Given the description of an element on the screen output the (x, y) to click on. 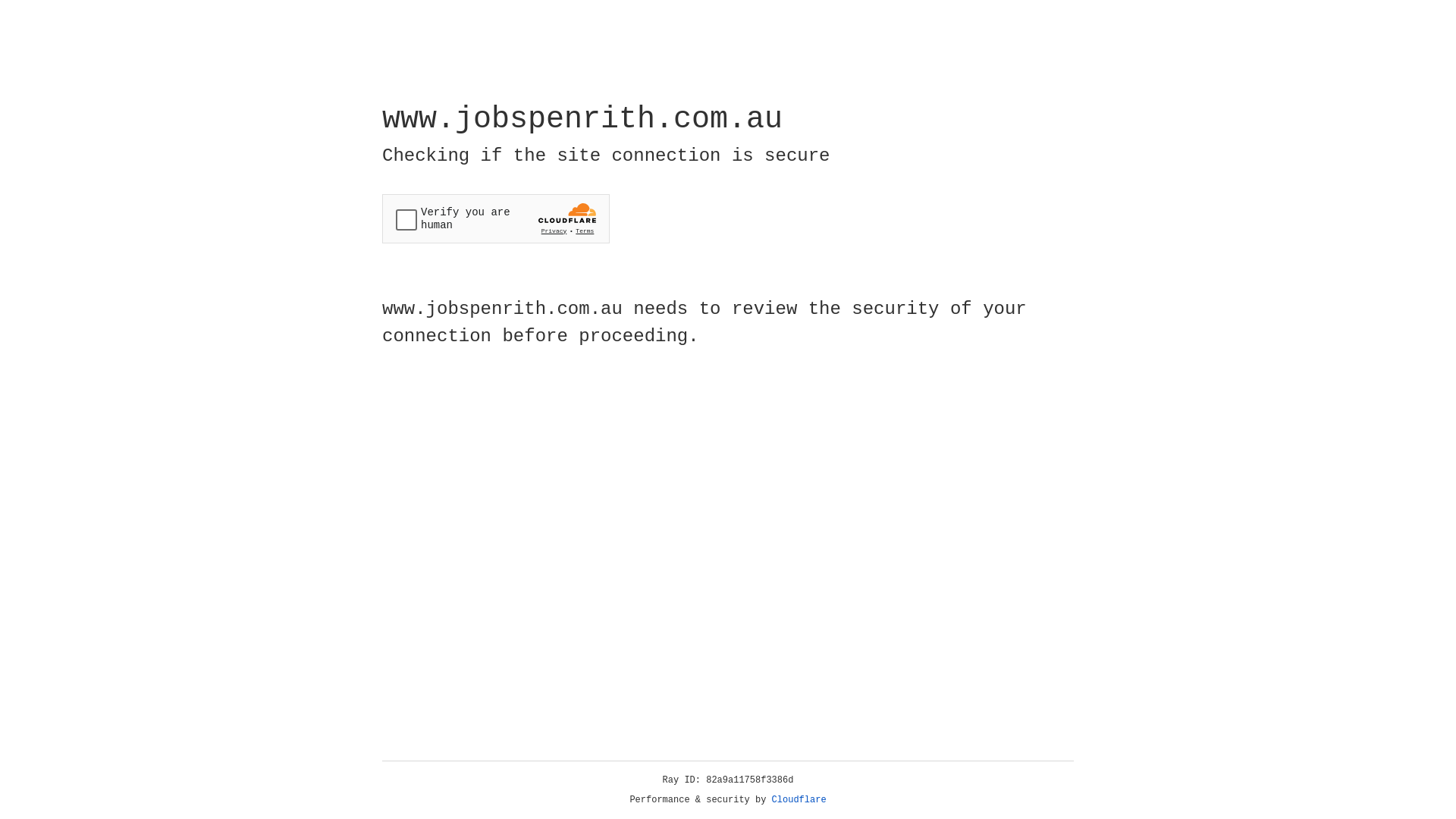
Cloudflare Element type: text (798, 799)
Widget containing a Cloudflare security challenge Element type: hover (495, 218)
